Given the description of an element on the screen output the (x, y) to click on. 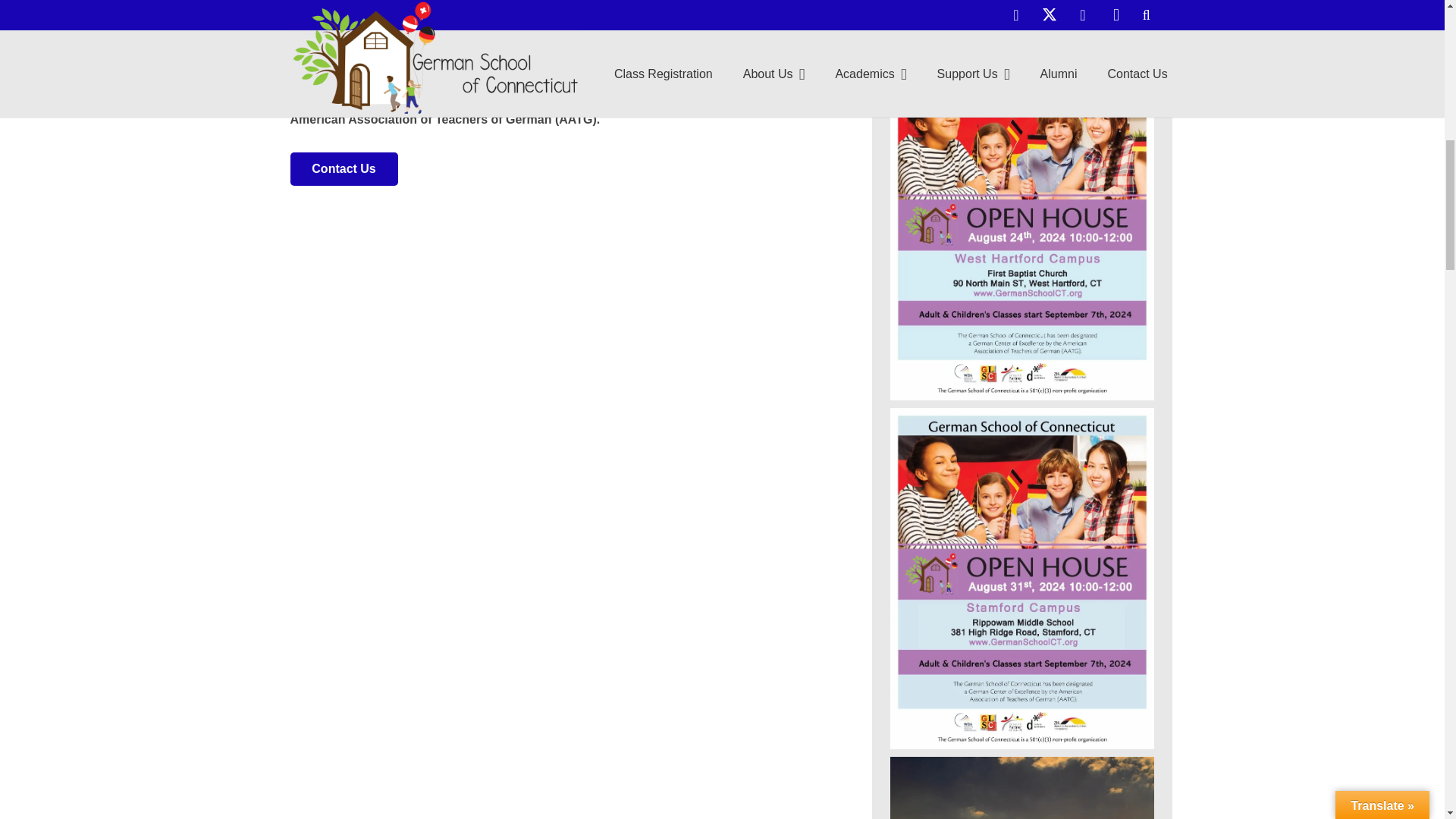
Contact Us (343, 169)
Contact Us (343, 169)
Back to top (1413, 26)
